Given the description of an element on the screen output the (x, y) to click on. 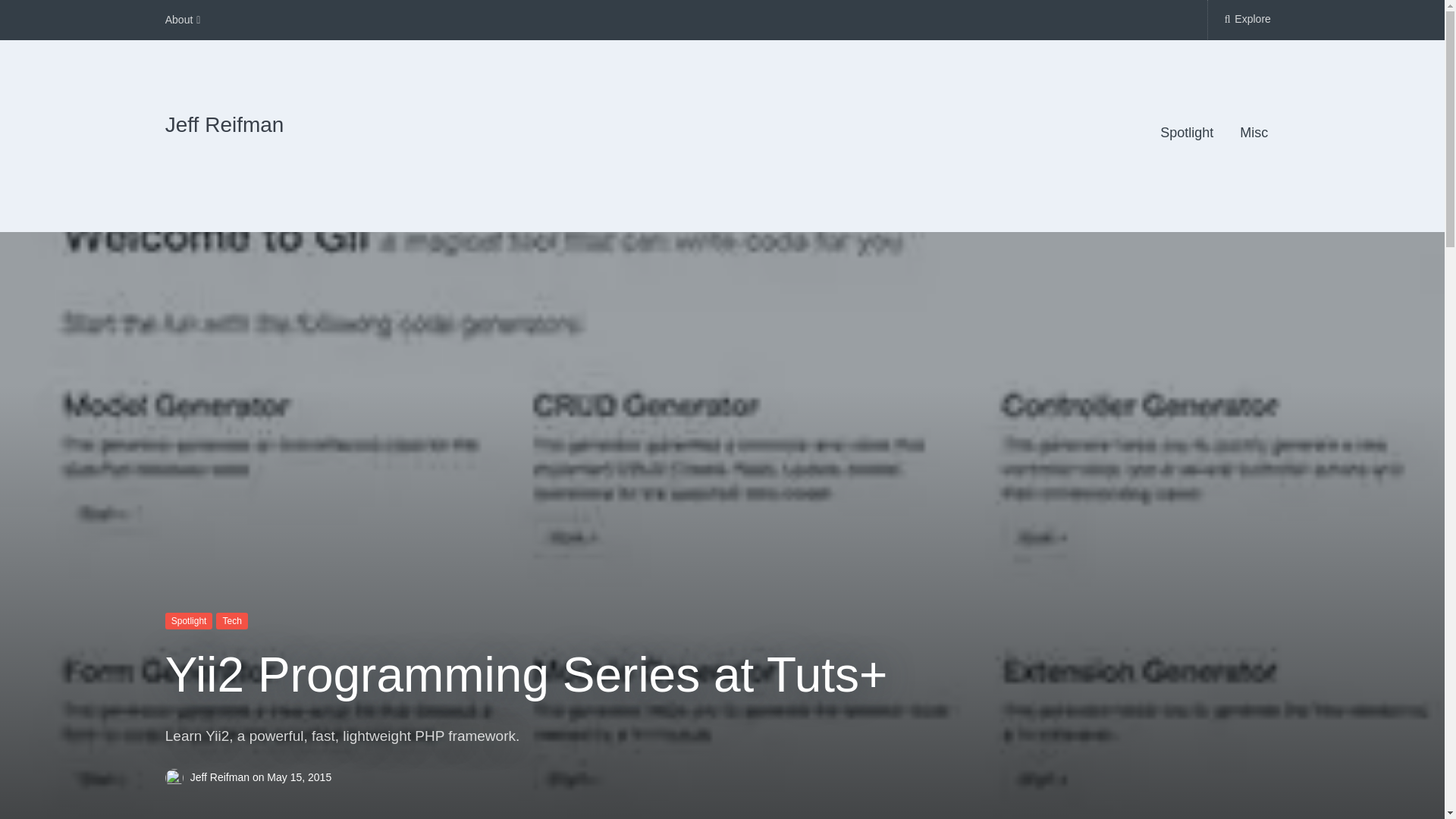
About (182, 20)
About Jeff Reifman (182, 20)
